Given the description of an element on the screen output the (x, y) to click on. 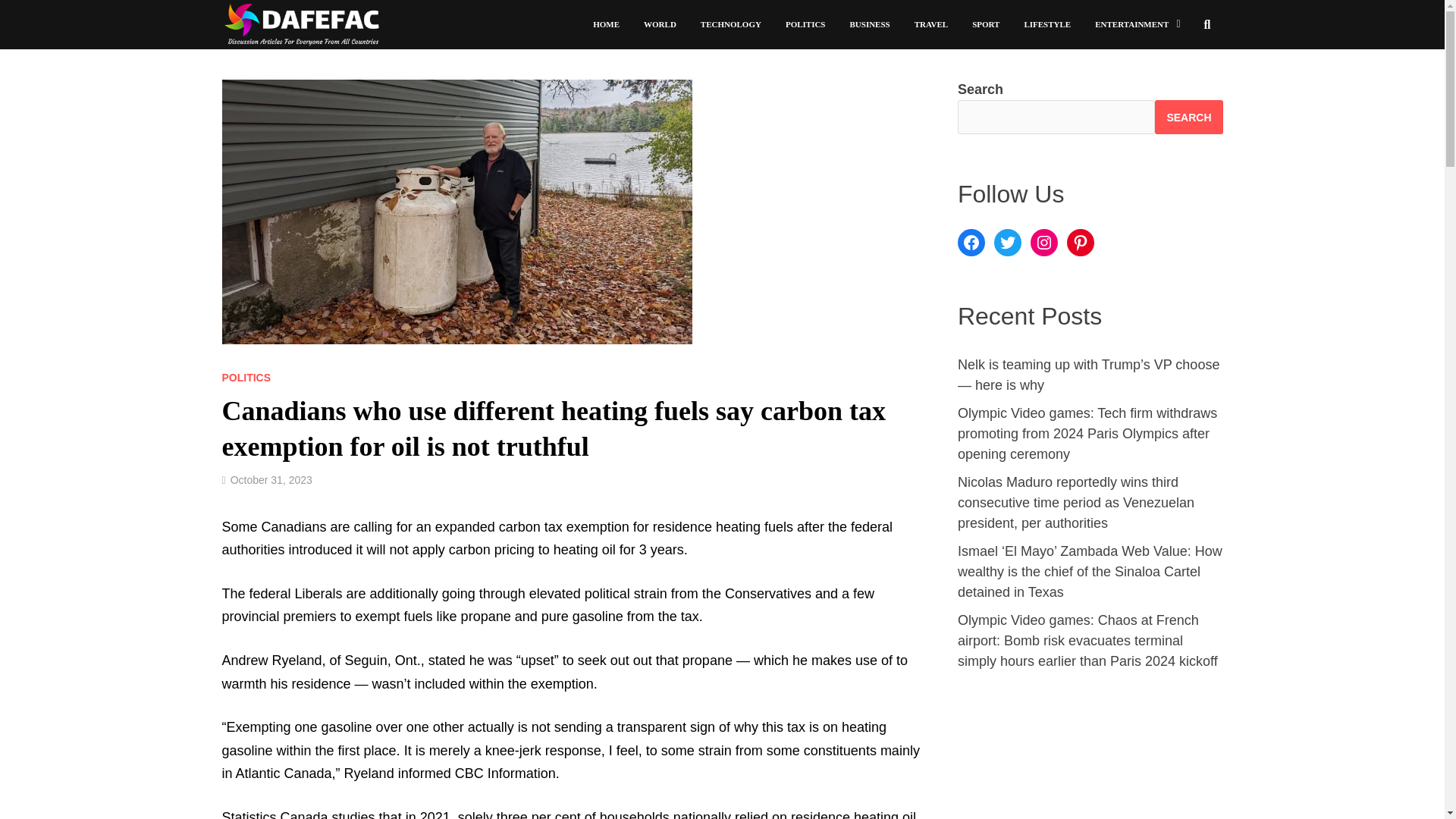
WORLD (659, 24)
HOME (605, 24)
TRAVEL (930, 24)
ENTERTAINMENT (1137, 24)
POLITICS (245, 377)
LIFESTYLE (1047, 24)
BUSINESS (869, 24)
SPORT (985, 24)
POLITICS (805, 24)
TECHNOLOGY (730, 24)
October 31, 2023 (271, 480)
